Given the description of an element on the screen output the (x, y) to click on. 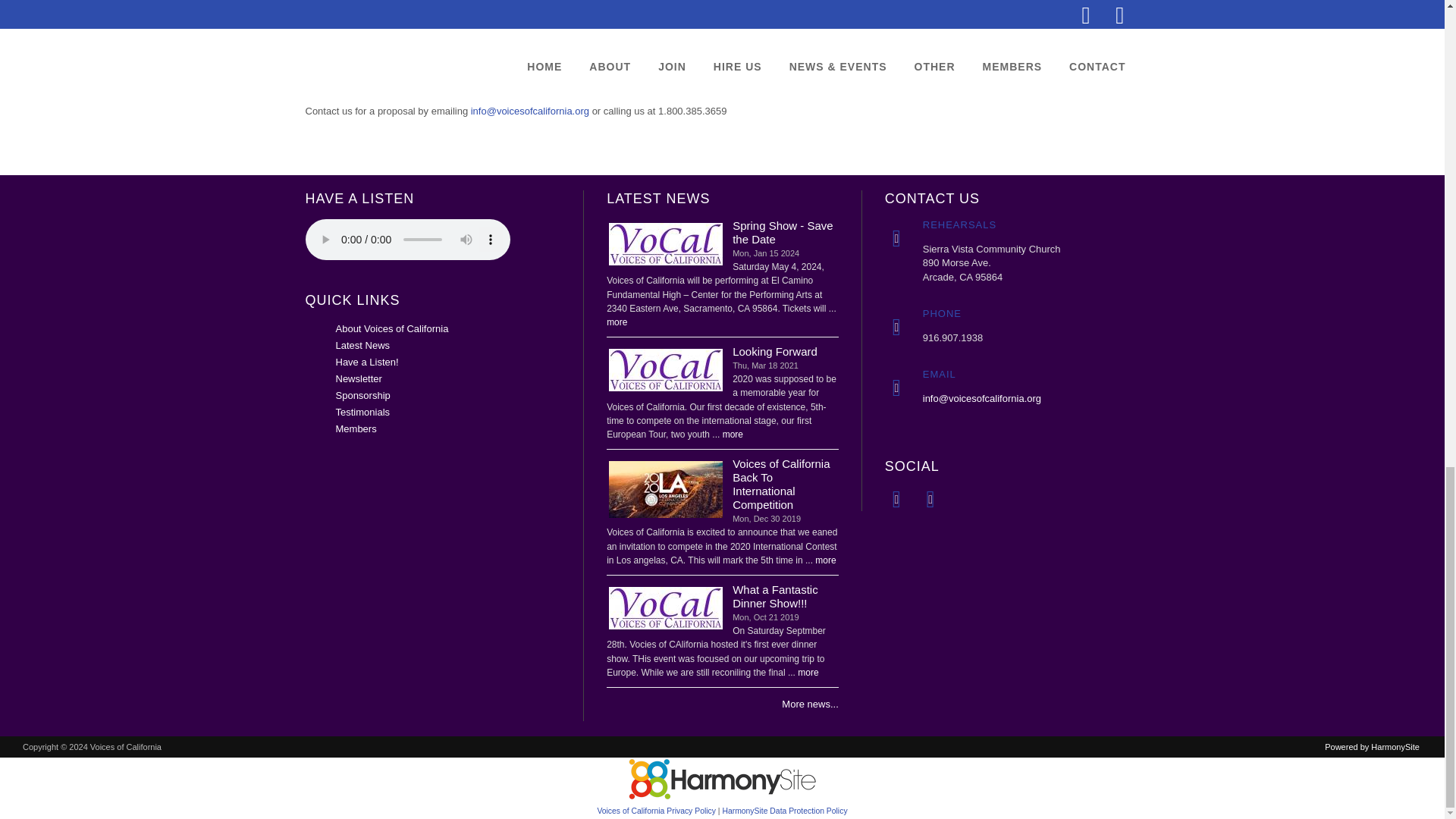
Visit us on Facebook (896, 499)
Voices of California Back To International Competition (666, 489)
RSS Feeds (930, 499)
What a Fantastic Dinner Show!!! (666, 607)
Powered by HarmonySite (721, 778)
Looking Forward (666, 369)
Spring Show - Save the Date (666, 243)
